Given the description of an element on the screen output the (x, y) to click on. 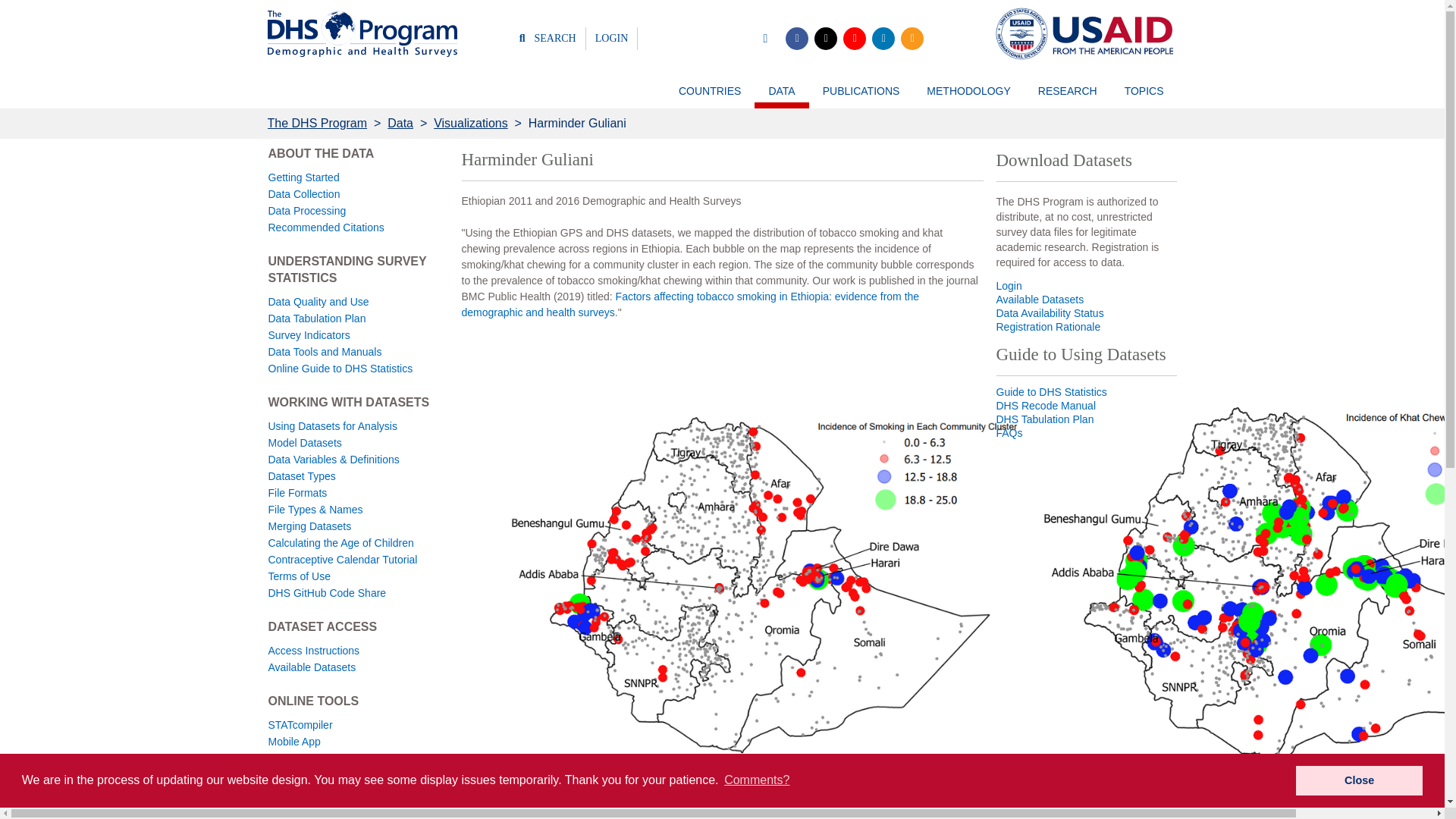
COUNTRIES (709, 96)
The DHS Program (361, 33)
LOGIN (611, 38)
Learn more (491, 780)
PUBLICATIONS (861, 96)
Got it! (1358, 780)
METHODOLOGY (967, 96)
USAID (1081, 33)
Comments? (757, 780)
DATA (781, 96)
